Given the description of an element on the screen output the (x, y) to click on. 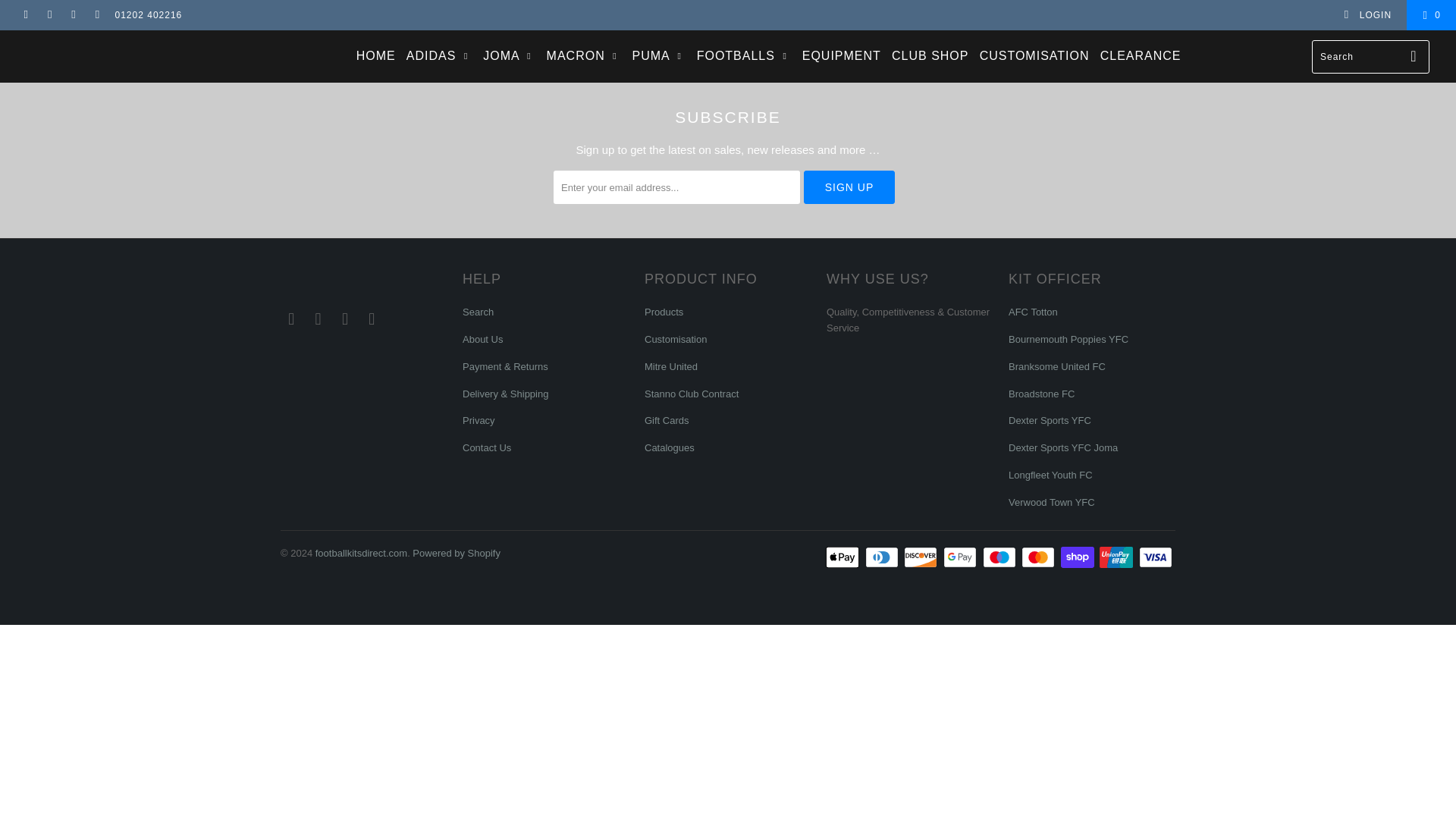
Shop Pay (1079, 557)
Discover (922, 557)
Visa (1156, 557)
Sign Up (849, 186)
footballkitsdirect.com on Twitter (25, 14)
footballkitsdirect.com (123, 41)
Union Pay (1117, 557)
footballkitsdirect.com on Facebook (48, 14)
Email footballkitsdirect.com (372, 319)
Google Pay (961, 557)
LOGIN (1366, 15)
Diners Club (882, 557)
01202 402216 (149, 15)
Maestro (1000, 557)
footballkitsdirect.com on Facebook (318, 319)
